Given the description of an element on the screen output the (x, y) to click on. 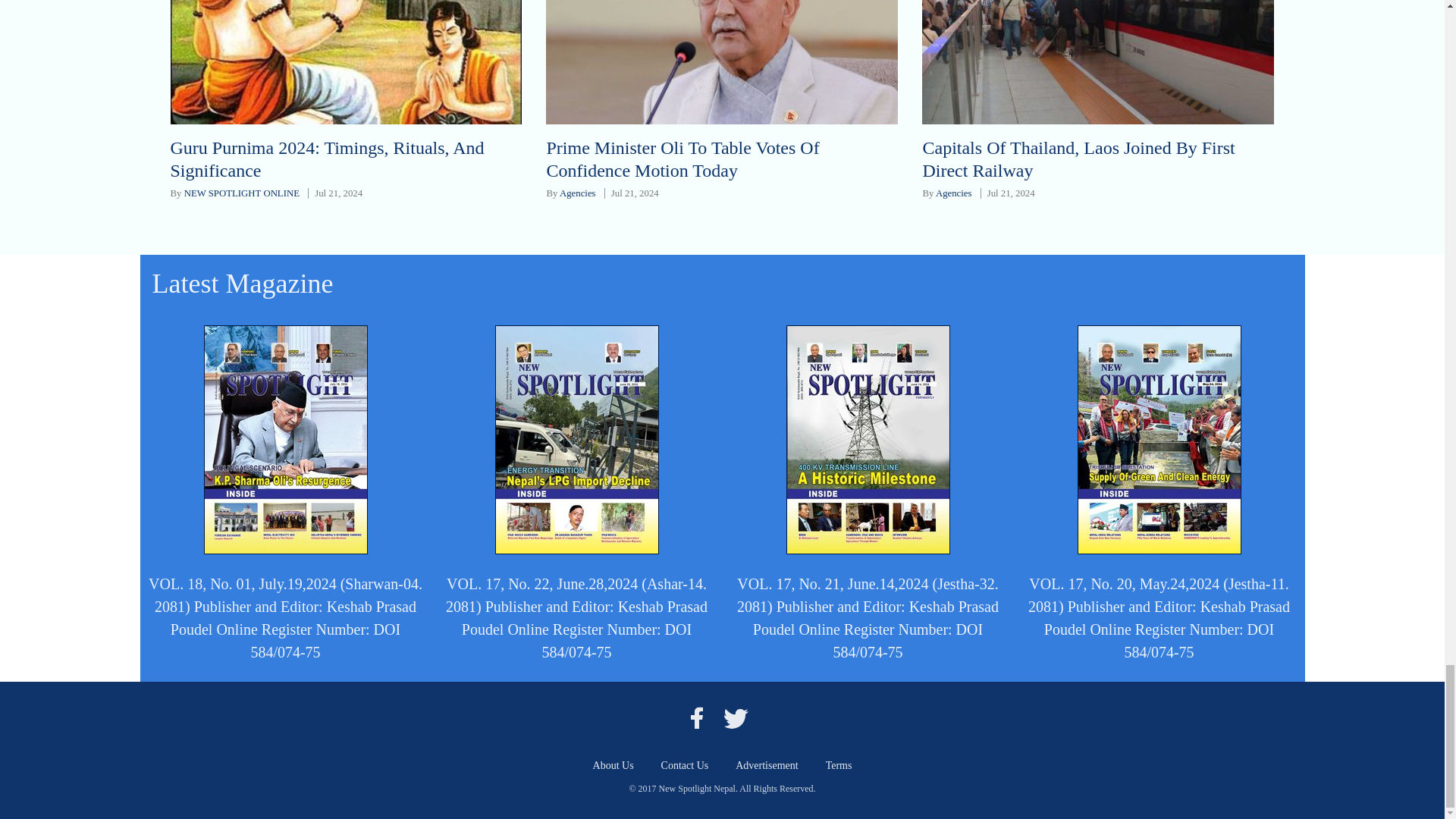
twitter icon (735, 717)
Spotlight Nepal Twitter (735, 717)
facebook icon (695, 717)
Spotlight Nepal Facebook (695, 717)
